Given the description of an element on the screen output the (x, y) to click on. 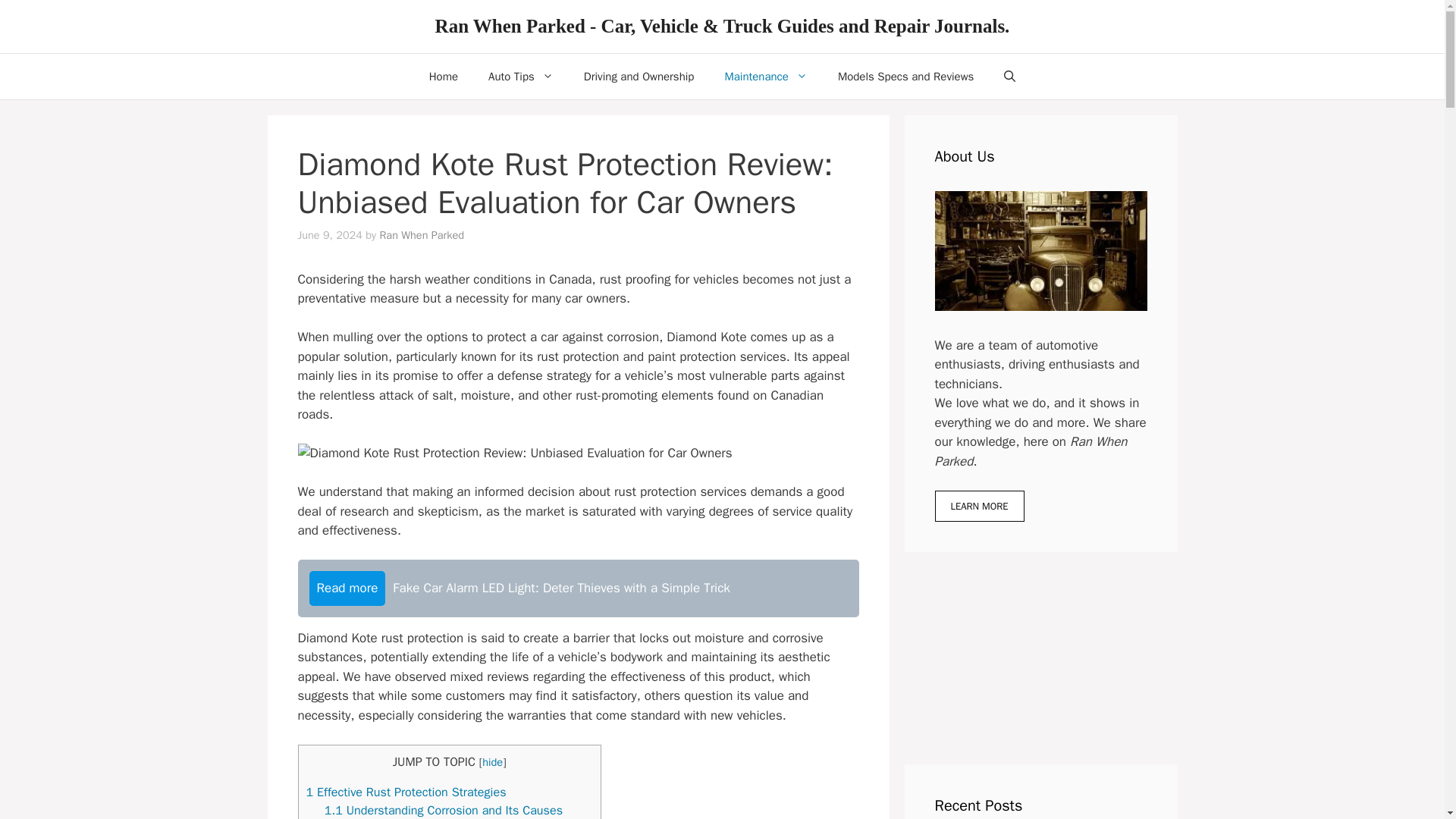
Auto Tips (521, 76)
Ran When Parked (421, 234)
View all posts by Ran When Parked (421, 234)
Models Specs and Reviews (905, 76)
Maintenance (765, 76)
hide (491, 762)
1 Effective Rust Protection Strategies (405, 791)
1.1 Understanding Corrosion and Its Causes (443, 810)
Driving and Ownership (639, 76)
